Given the description of an element on the screen output the (x, y) to click on. 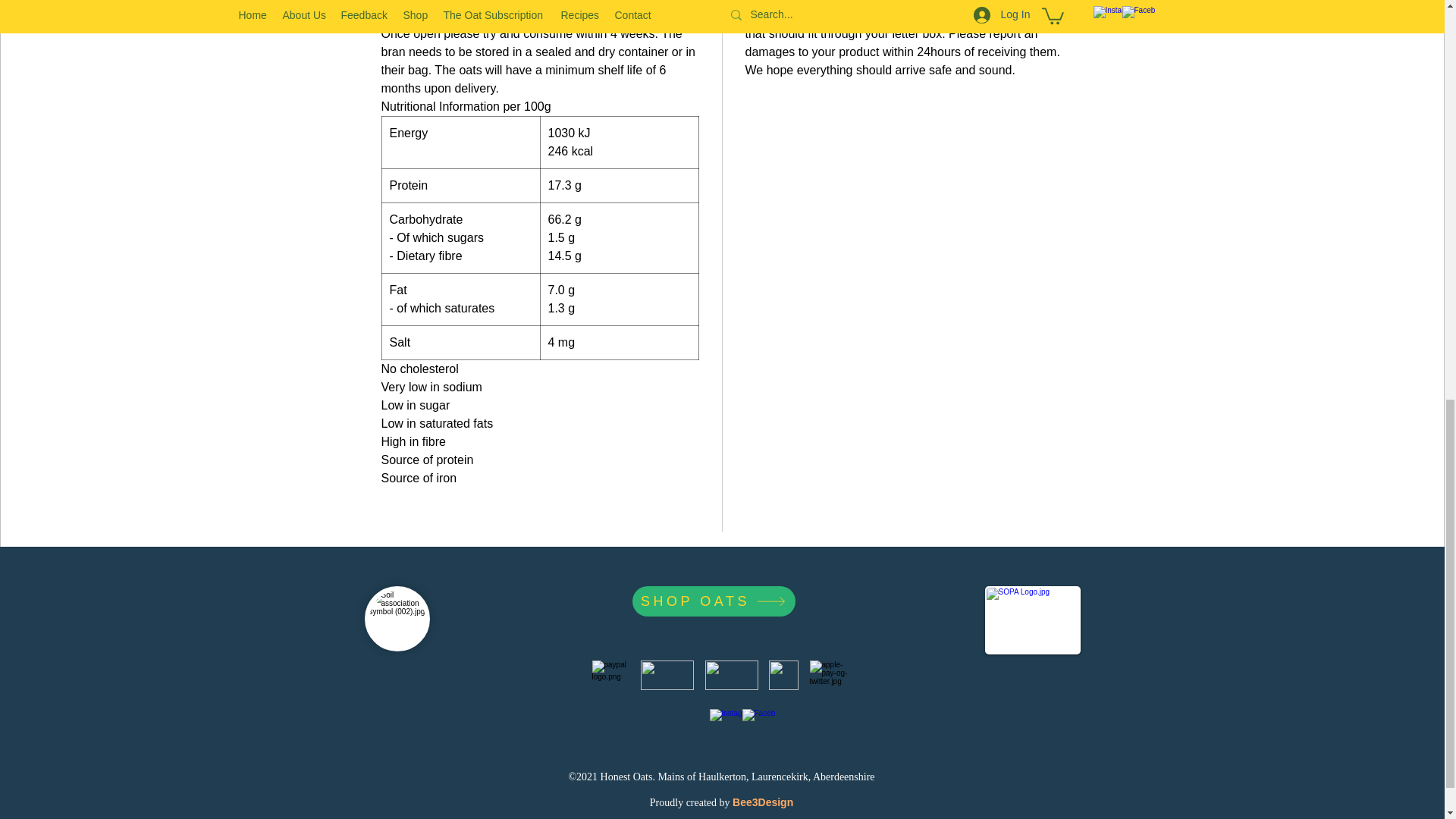
visa logo.png (731, 675)
Bee3Design (762, 802)
SHOP OATS (712, 601)
amex logo.png (782, 675)
